Given the description of an element on the screen output the (x, y) to click on. 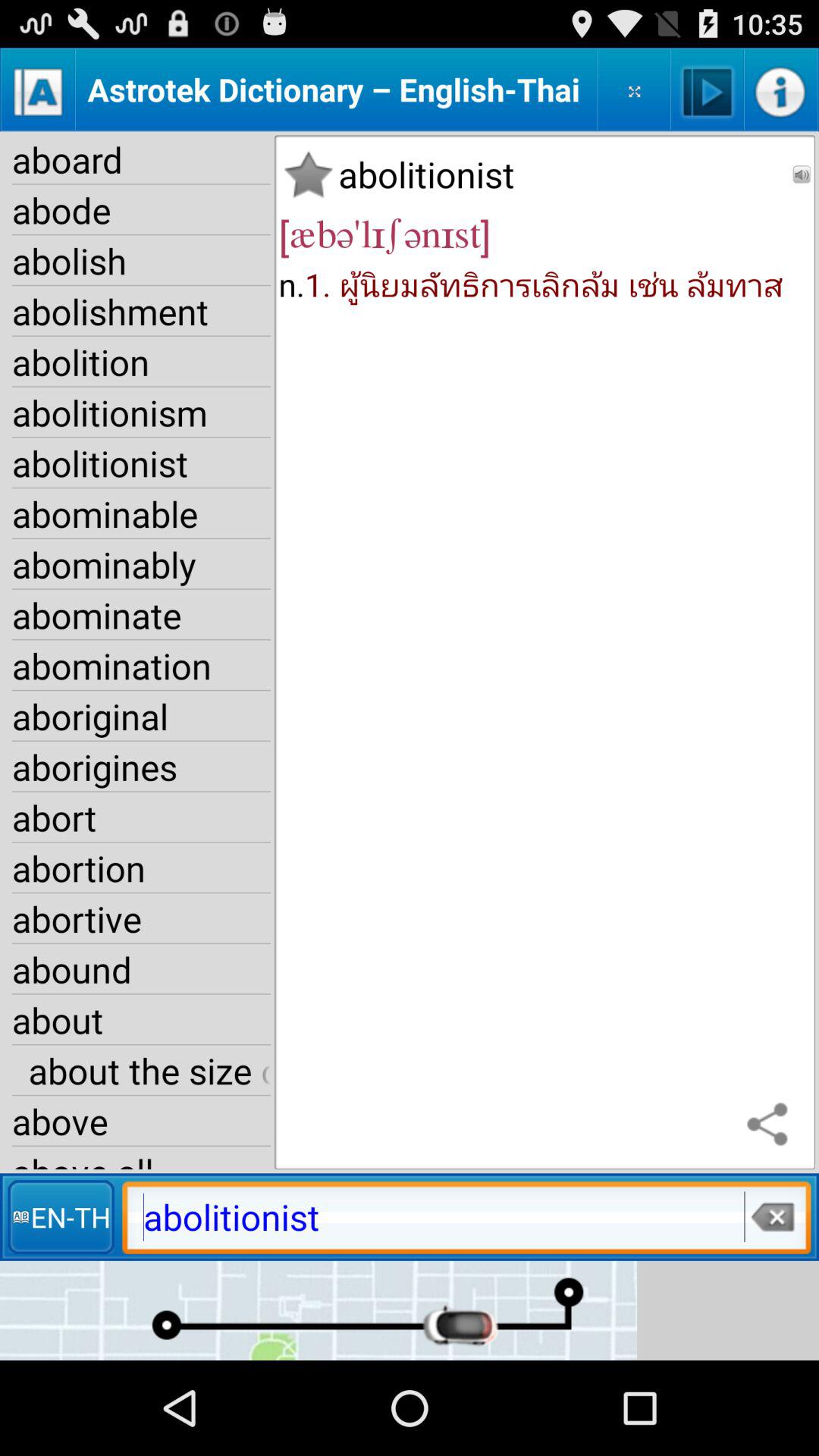
play sound (707, 89)
